Given the description of an element on the screen output the (x, y) to click on. 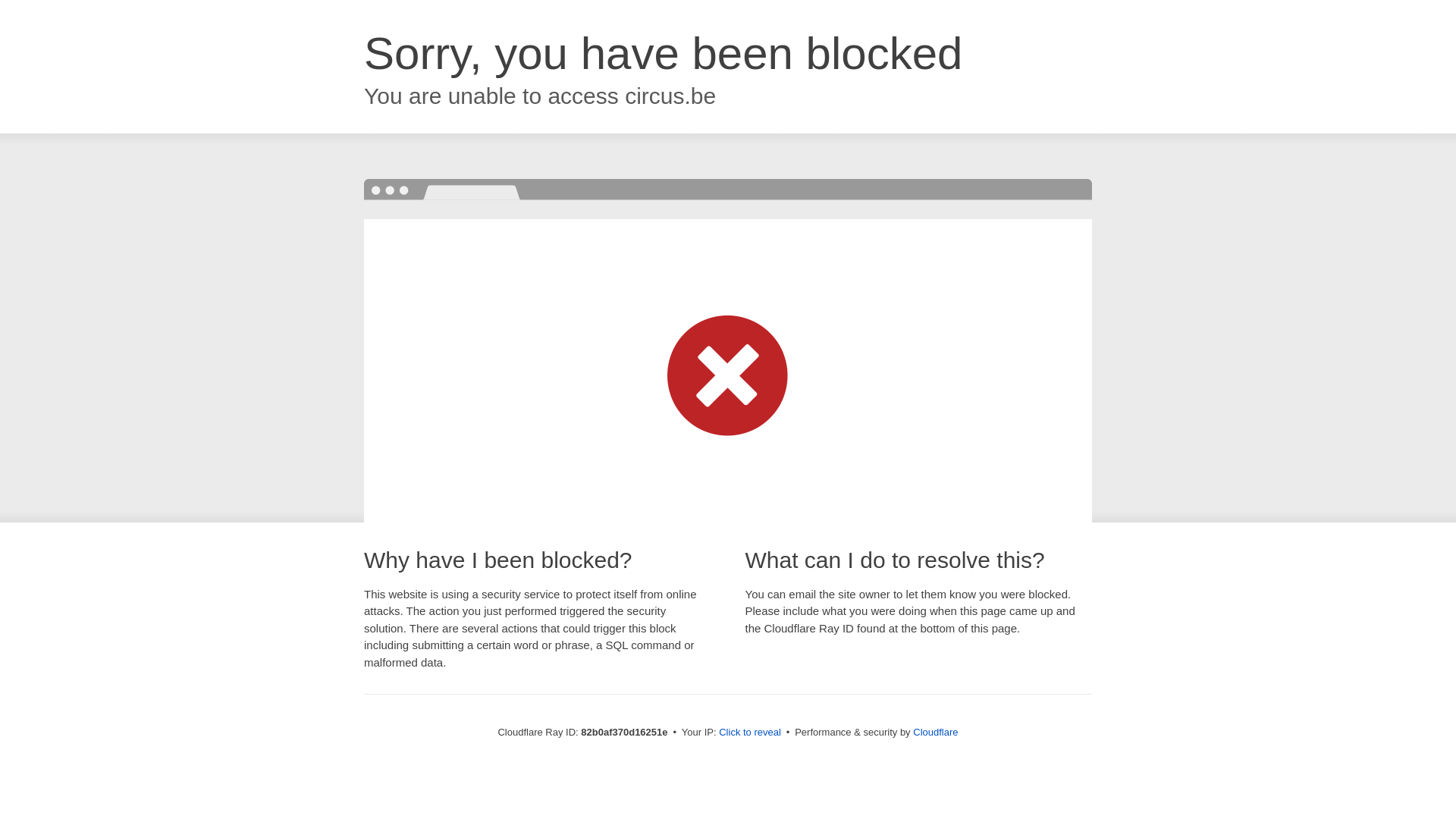
Click to reveal Element type: text (749, 732)
Cloudflare Element type: text (935, 731)
